Given the description of an element on the screen output the (x, y) to click on. 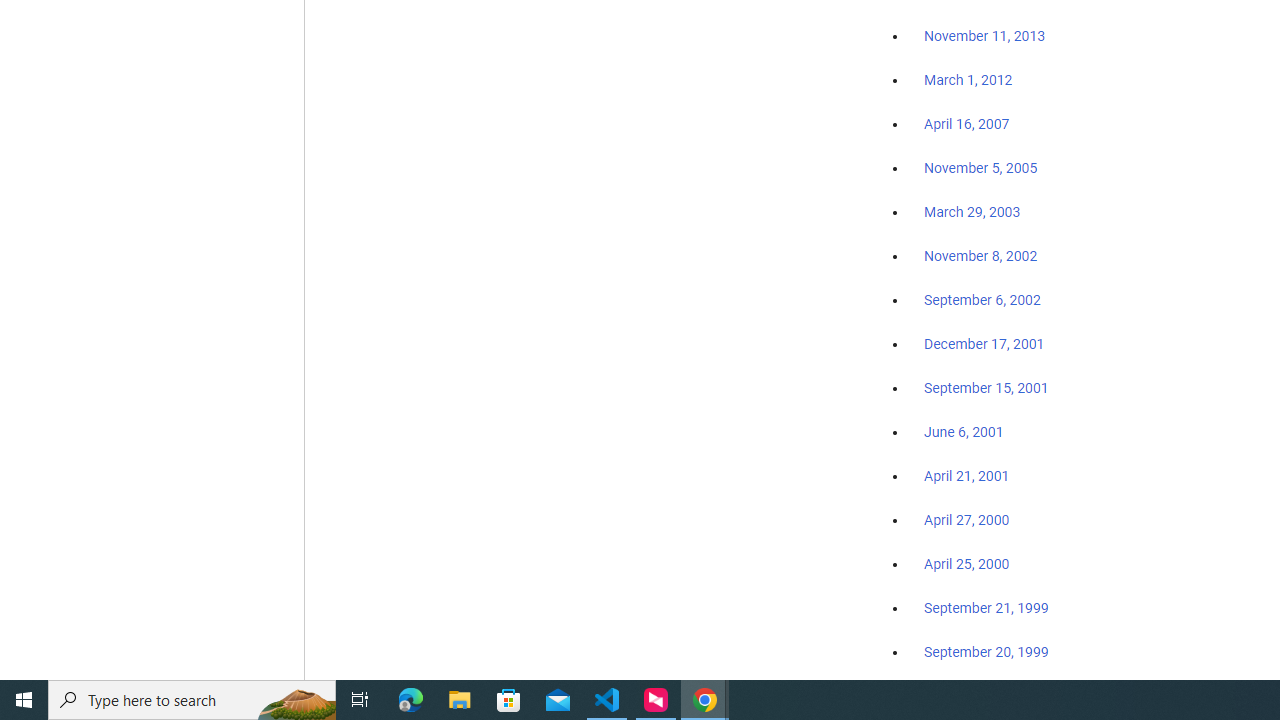
April 16, 2007 (966, 124)
September 20, 1999 (986, 651)
September 21, 1999 (986, 608)
March 1, 2012 (968, 81)
September 6, 2002 (982, 299)
November 5, 2005 (981, 168)
March 29, 2003 (972, 212)
November 11, 2013 (984, 37)
April 27, 2000 (966, 520)
April 25, 2000 (966, 564)
September 15, 2001 (986, 387)
April 21, 2001 (966, 476)
June 6, 2001 (963, 431)
December 17, 2001 (984, 343)
November 8, 2002 (981, 255)
